Given the description of an element on the screen output the (x, y) to click on. 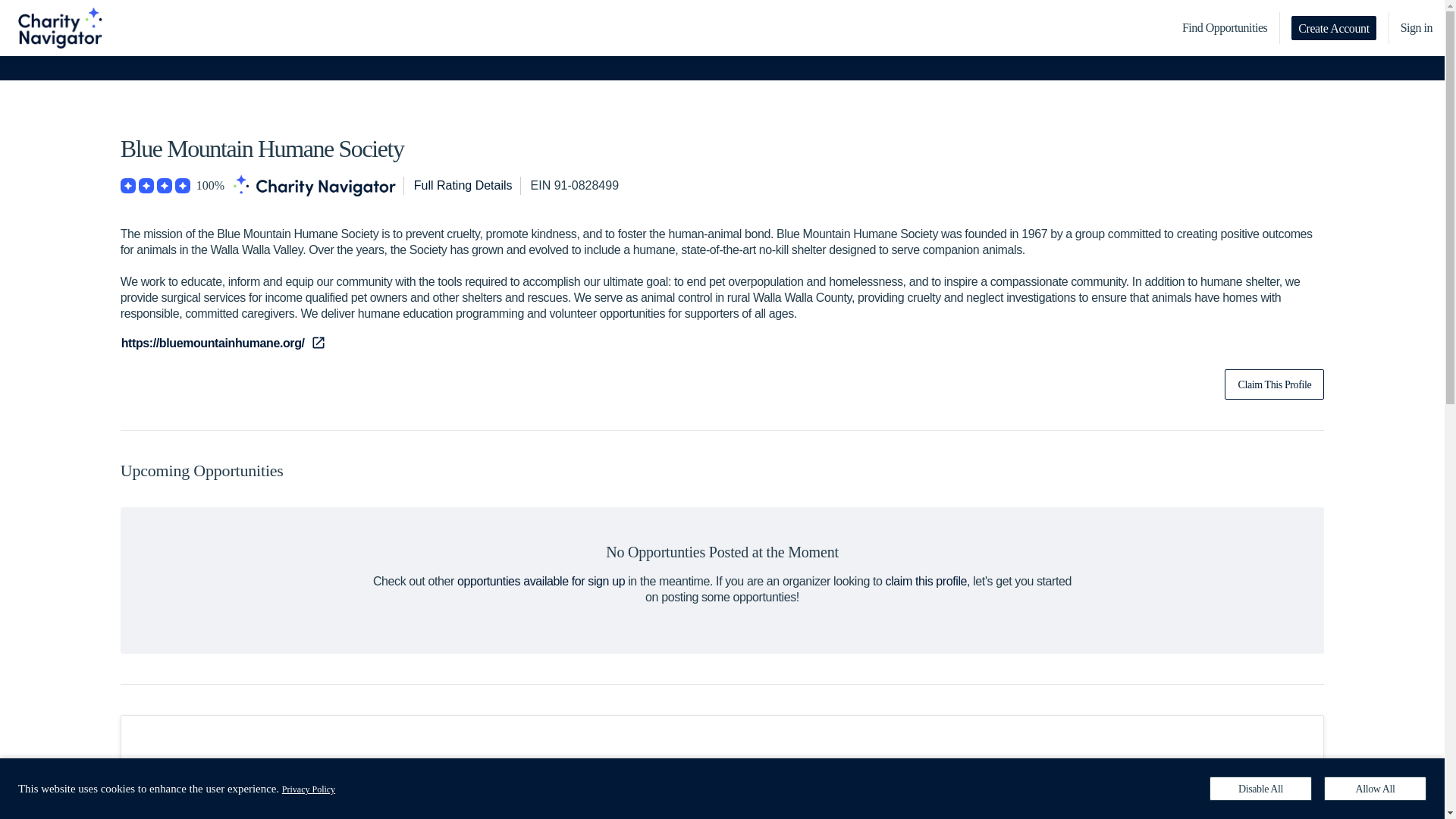
Disable All (1260, 788)
Claim This Profile (1273, 384)
Allow All (1374, 788)
Full Rating Details (462, 185)
claim this profile (926, 581)
Privacy Policy (308, 788)
Find Opportunities (1224, 28)
Create Account (1333, 27)
opportunties available for sign up (540, 581)
